Given the description of an element on the screen output the (x, y) to click on. 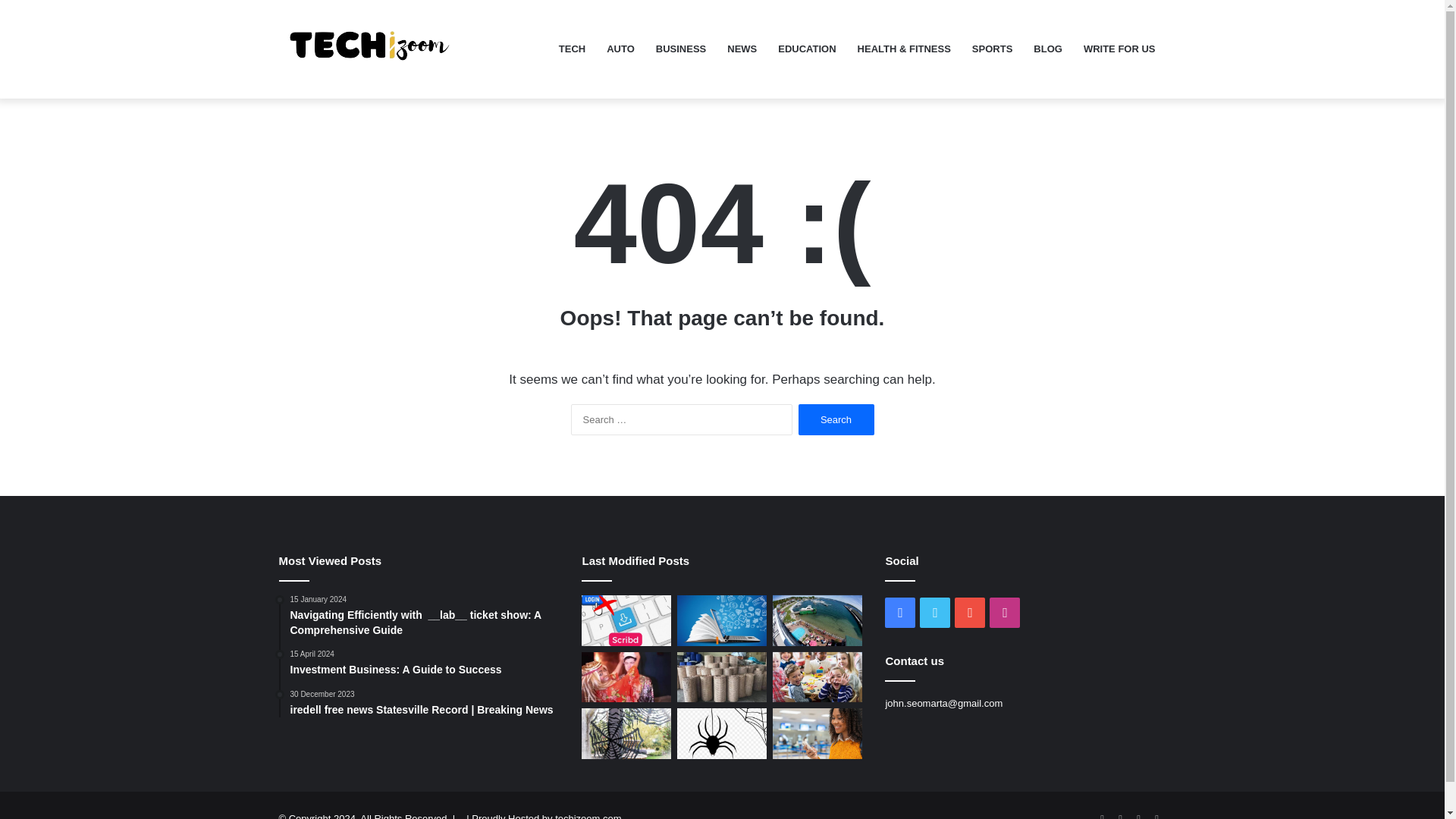
Instagram (1005, 612)
EDUCATION (806, 49)
Search (835, 419)
WRITE FOR US (1119, 49)
YouTube (1138, 814)
YouTube (970, 612)
SPORTS (991, 49)
Twitter (1120, 814)
TECH (571, 49)
Search (835, 419)
BUSINESS (680, 49)
Instagram (1157, 814)
NEWS (741, 49)
BLOG (424, 664)
